Given the description of an element on the screen output the (x, y) to click on. 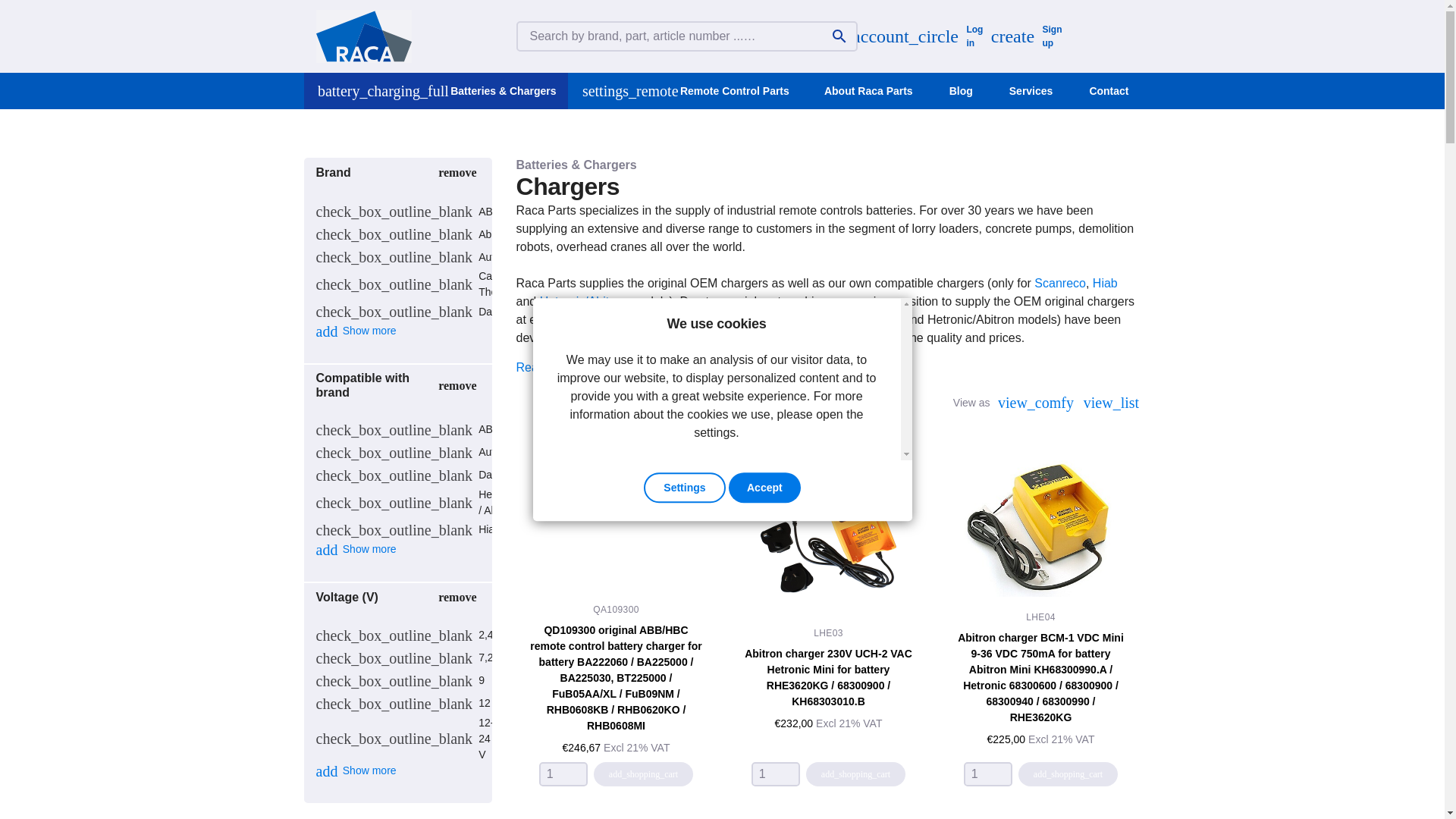
addShow more (355, 330)
1 (563, 774)
addShow more (355, 770)
addShow more (355, 548)
Read more (545, 367)
Hiab (1105, 282)
Services (1031, 90)
View (828, 528)
View (615, 677)
About Raca Parts (868, 90)
View (1039, 677)
Scanreco (1024, 36)
View (1059, 282)
Add to cart (1039, 528)
